Given the description of an element on the screen output the (x, y) to click on. 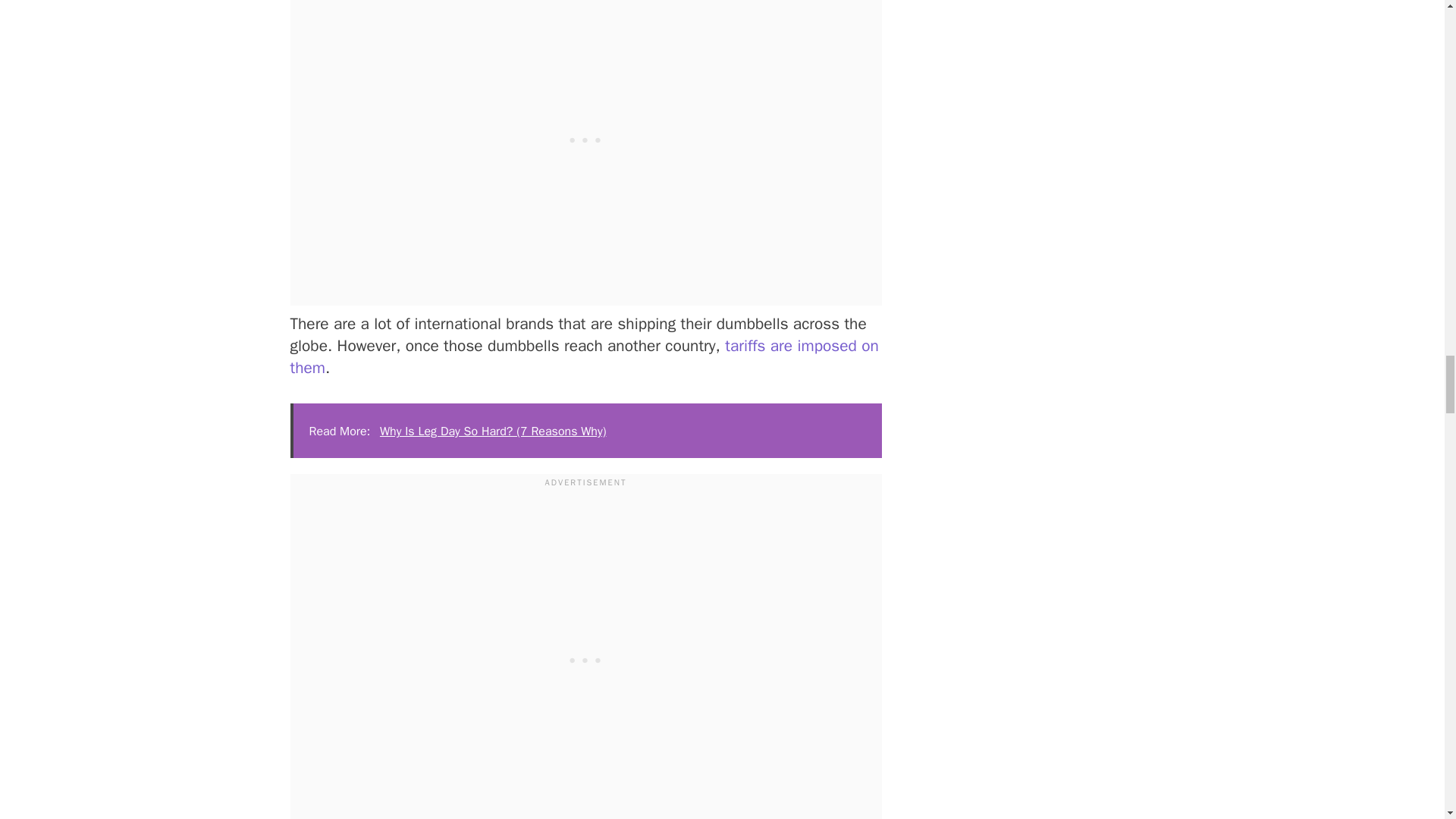
tariffs are imposed on them (583, 356)
